Given the description of an element on the screen output the (x, y) to click on. 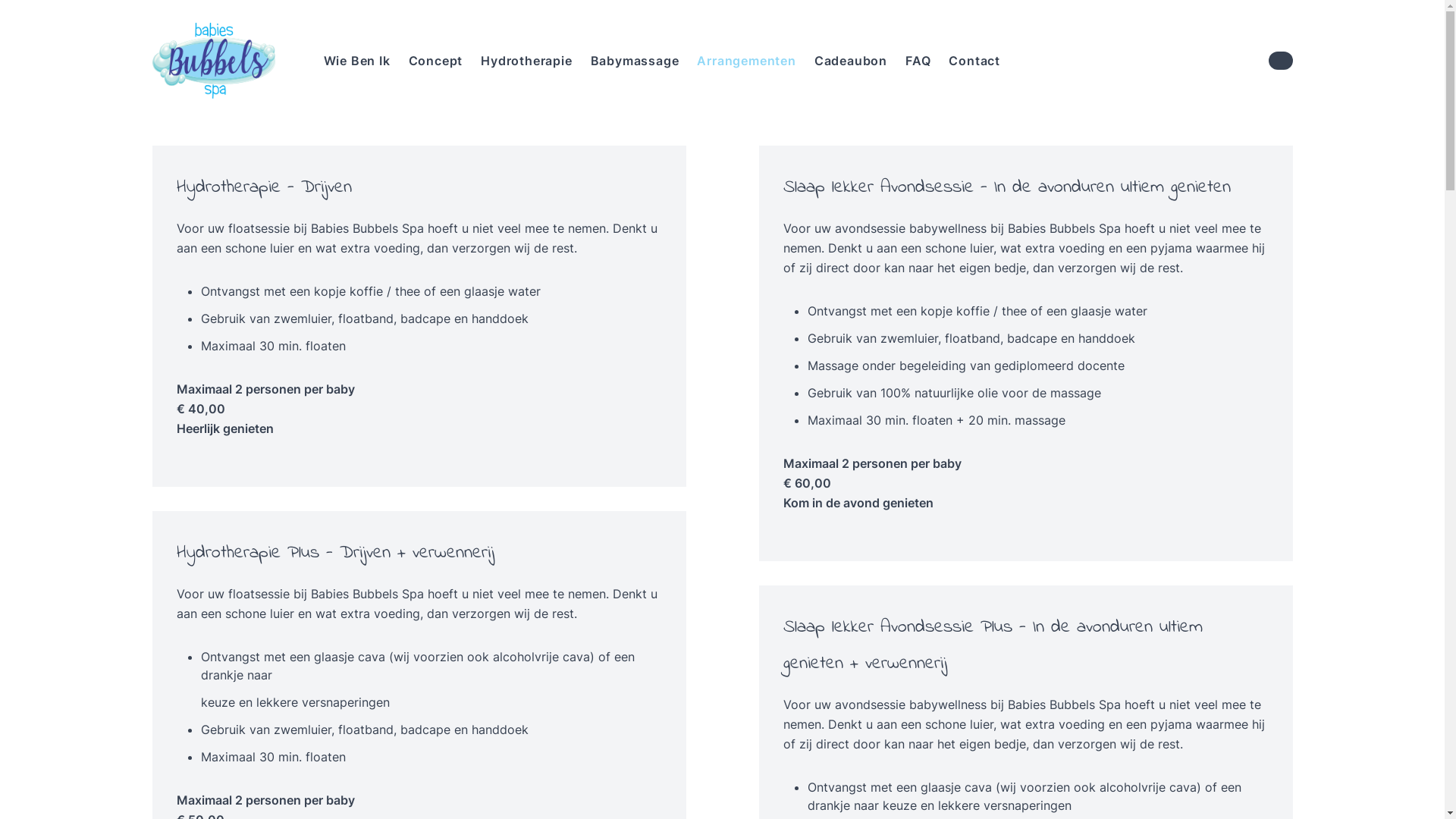
Arrangementen Element type: text (745, 60)
Wie Ben Ik Element type: text (356, 60)
Babymassage Element type: text (634, 60)
Cadeaubon Element type: text (850, 60)
FAQ Element type: text (917, 60)
Hydrotherapie Element type: text (525, 60)
Contact Element type: text (974, 60)
Concept Element type: text (434, 60)
